Given the description of an element on the screen output the (x, y) to click on. 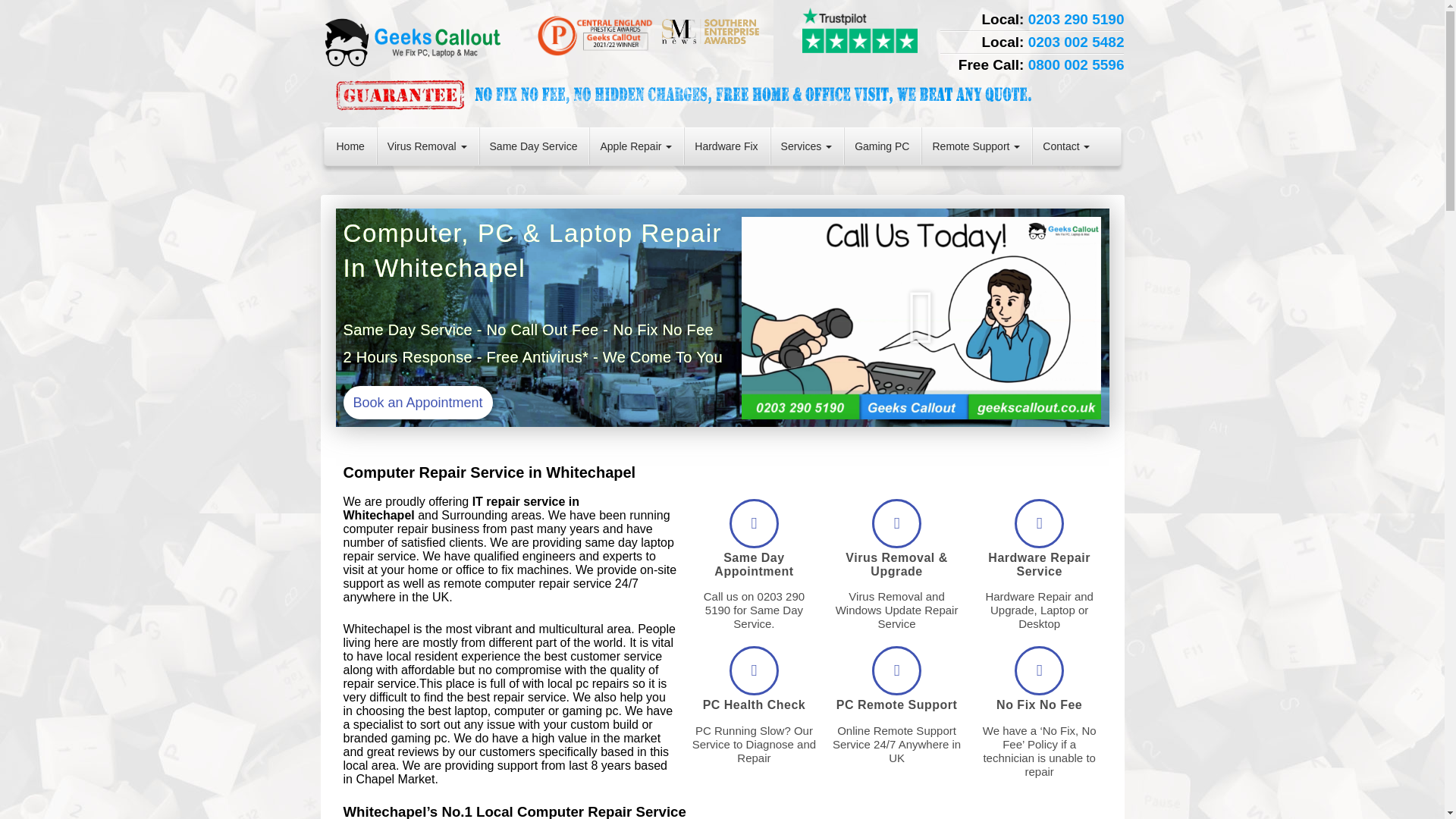
0203 290 5190 (1075, 19)
Virus Removal (427, 146)
Same Day Service (534, 146)
Home (349, 146)
Book an Appointment (393, 402)
Hardware Fix (725, 146)
Contact (1065, 146)
Apple Repair (635, 146)
0800 002 5596 (1075, 64)
Gaming PC (881, 146)
0203 002 5482 (1075, 41)
Services (807, 146)
Remote Support (975, 146)
